Given the description of an element on the screen output the (x, y) to click on. 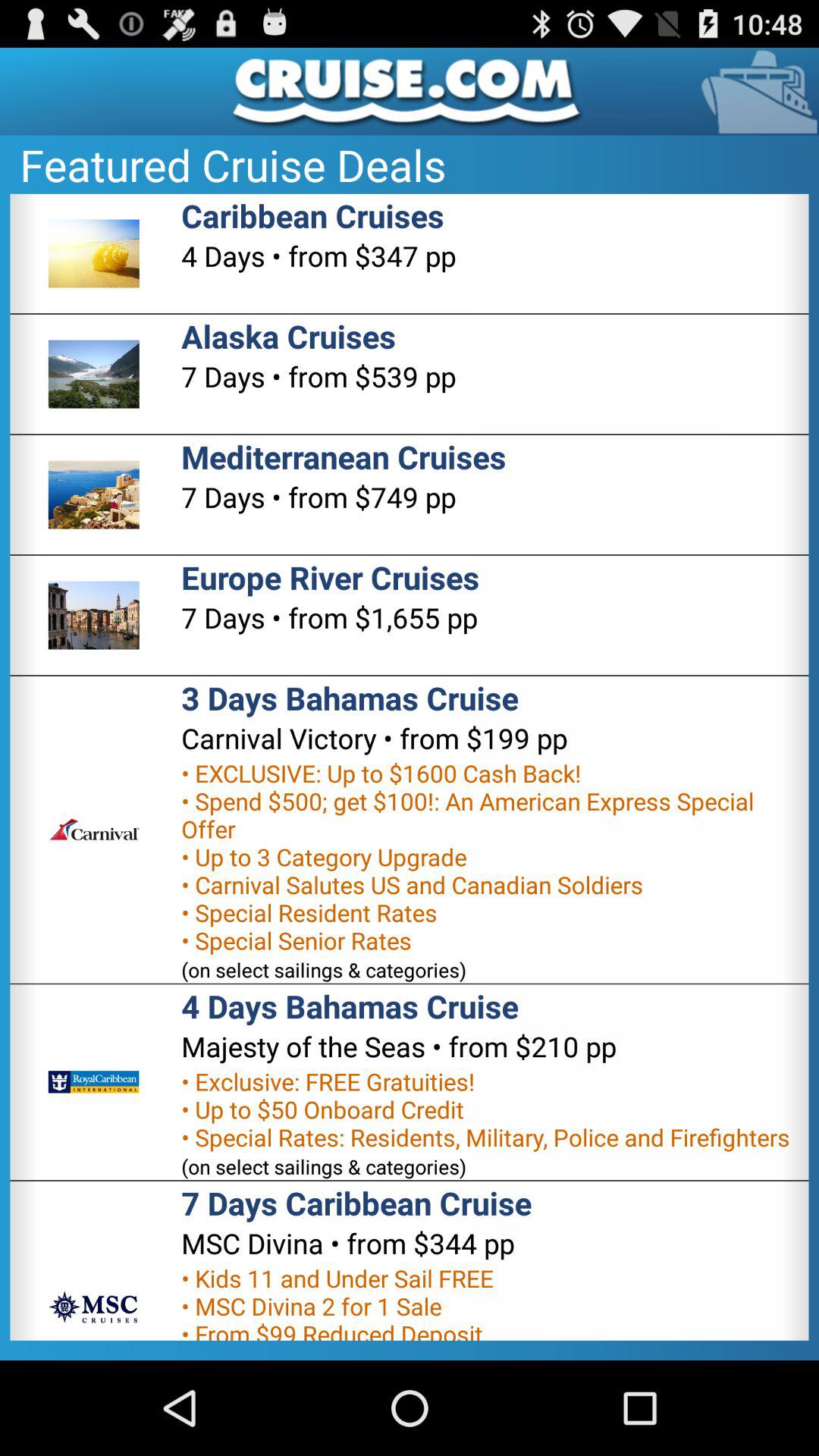
click app below the 4 days bahamas (398, 1046)
